Given the description of an element on the screen output the (x, y) to click on. 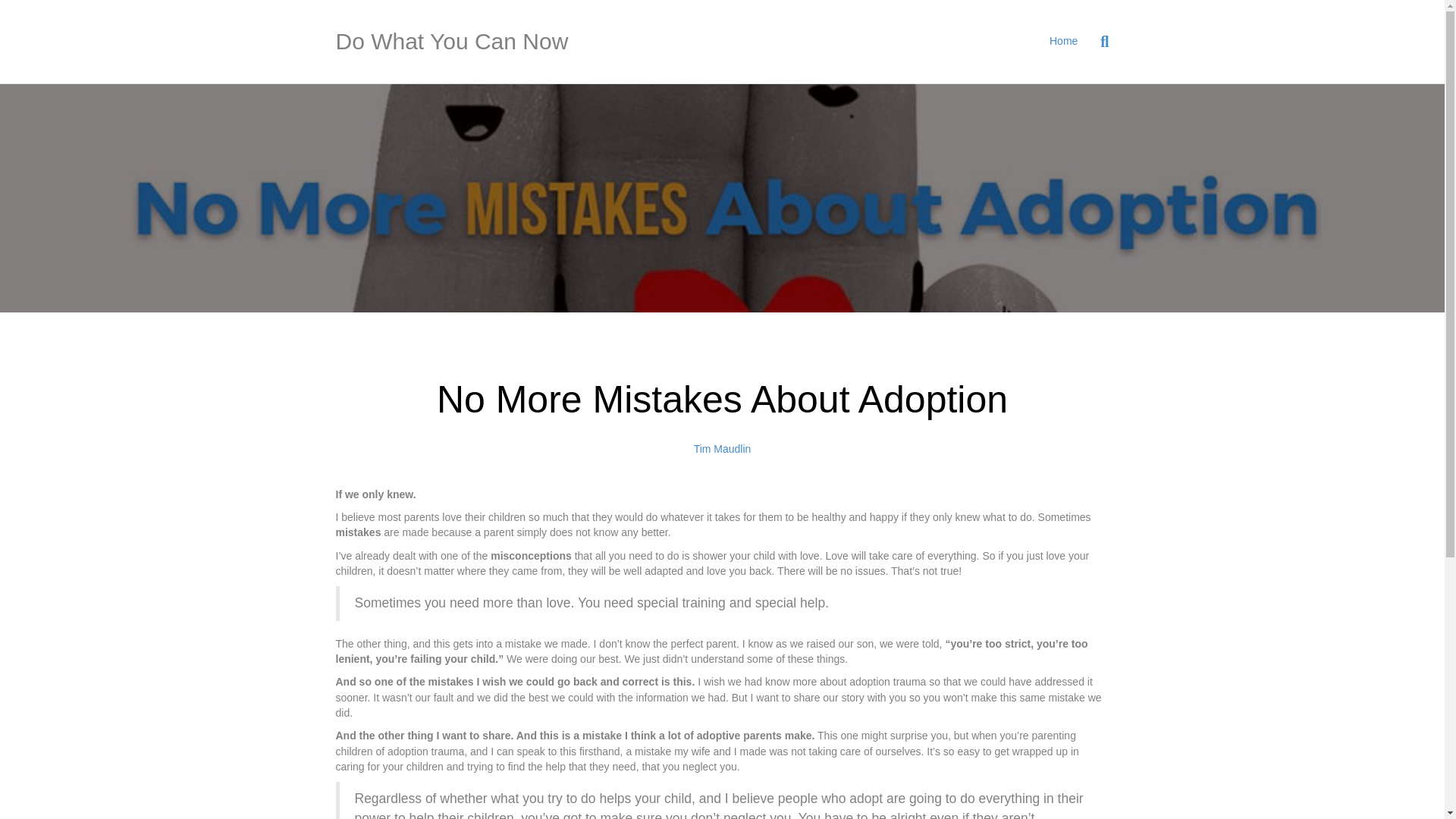
Do What You Can Now (457, 41)
Tim Maudlin (722, 449)
Home (1063, 41)
